Given the description of an element on the screen output the (x, y) to click on. 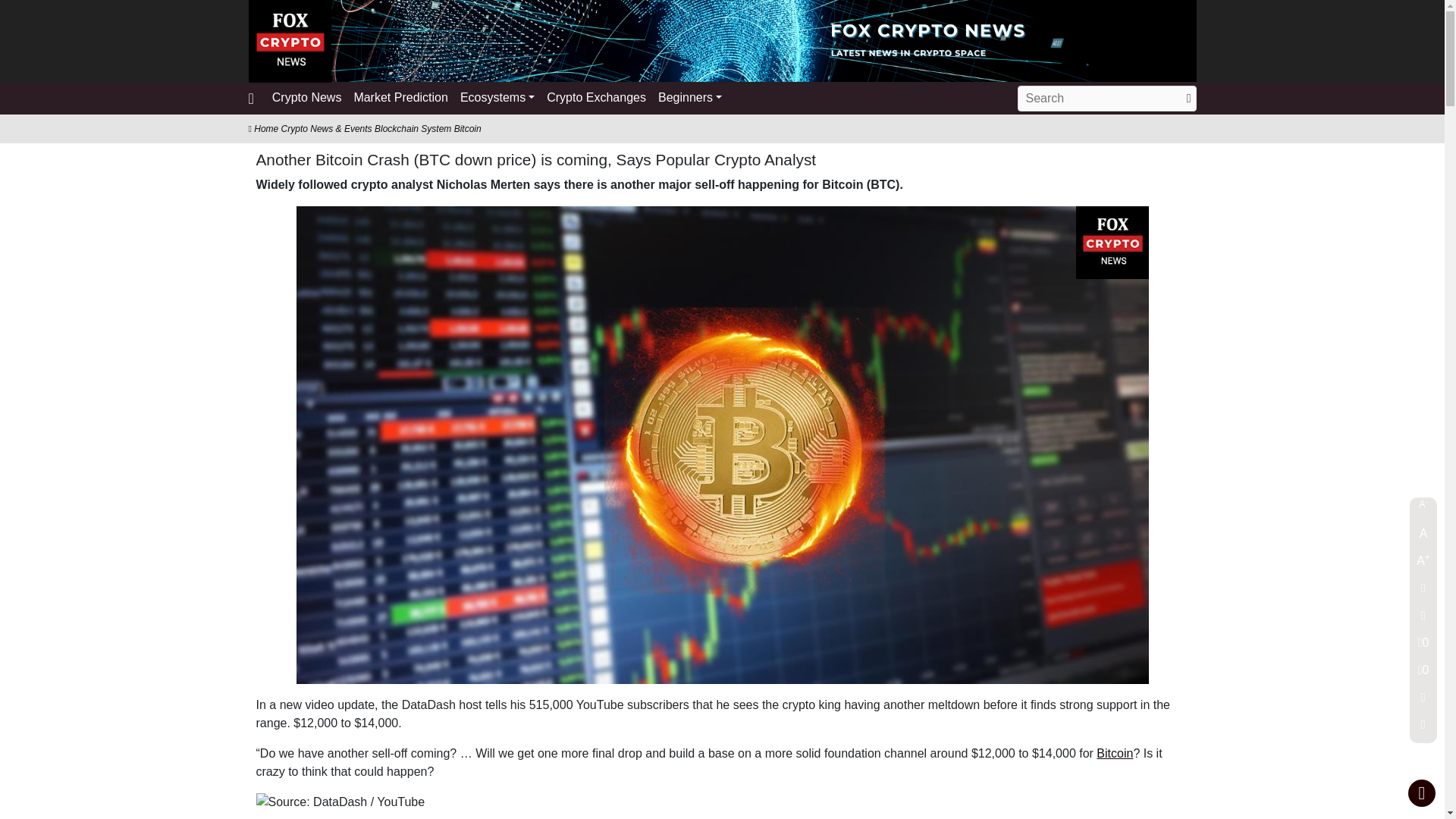
Crypto News  (306, 98)
Home (263, 128)
Blockchain System (412, 128)
Ecosystems (497, 98)
Share on face book (1423, 619)
Crypto Exchanges (596, 98)
Bitcoin (1114, 753)
0 (1423, 646)
Beginners (690, 98)
Market Prediction (400, 98)
Crypto Exchanges (596, 98)
Print (1423, 728)
Crypto News (306, 98)
Email (1423, 701)
Share on twitter (1423, 592)
